Given the description of an element on the screen output the (x, y) to click on. 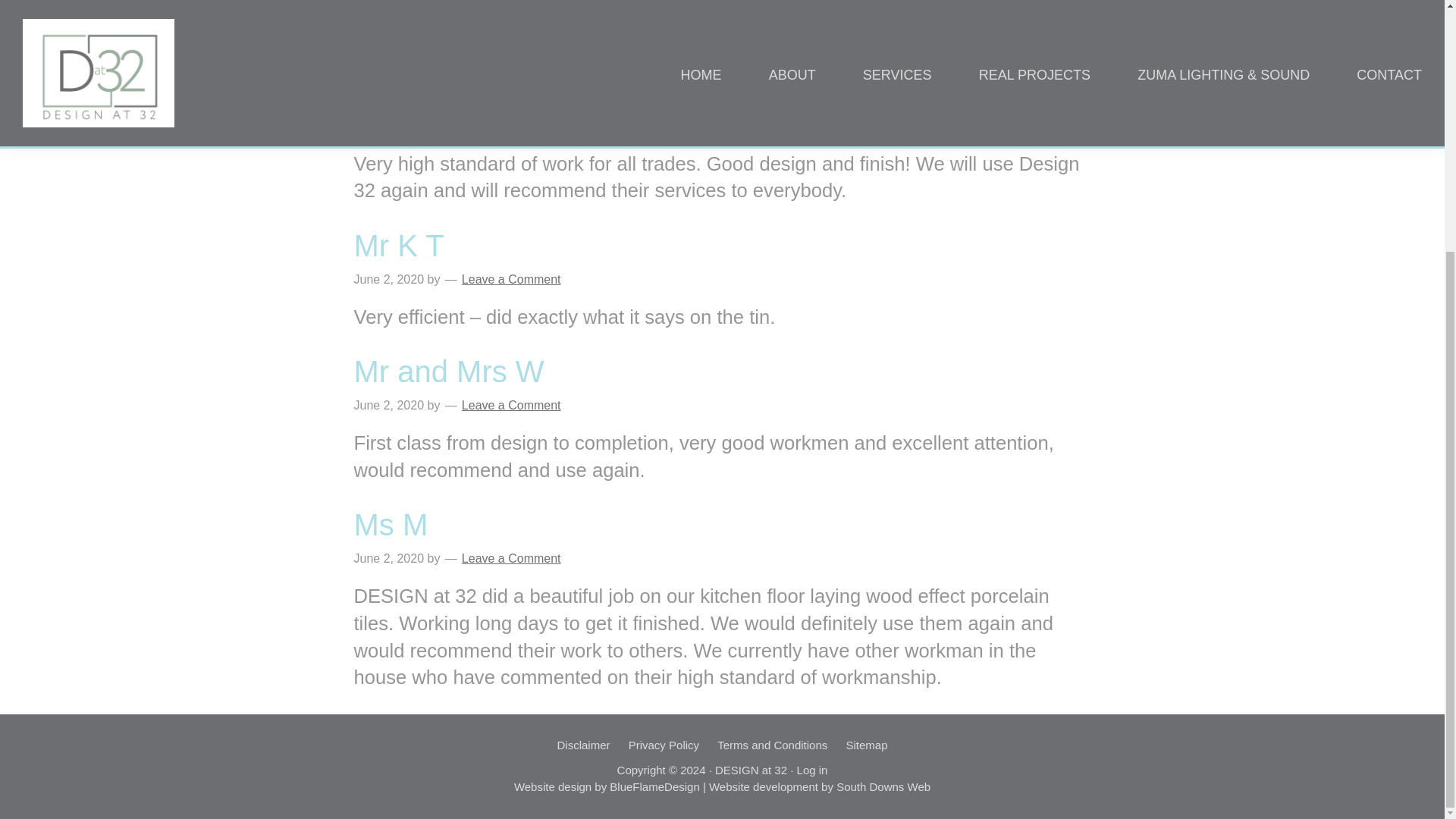
Leave a Comment (510, 558)
Leave a Comment (510, 125)
Sitemap (865, 745)
Ms M (390, 524)
Mr Noel D (421, 92)
Leave a Comment (510, 404)
Website development by South Downs Web (819, 786)
Disclaimer (583, 745)
Privacy Policy (663, 745)
Log in (812, 769)
Terms and Conditions (772, 745)
Leave a Comment (510, 278)
DESIGN at 32 (750, 769)
Mr and Mrs W (448, 371)
Website design by BlueFlameDesign (606, 786)
